Given the description of an element on the screen output the (x, y) to click on. 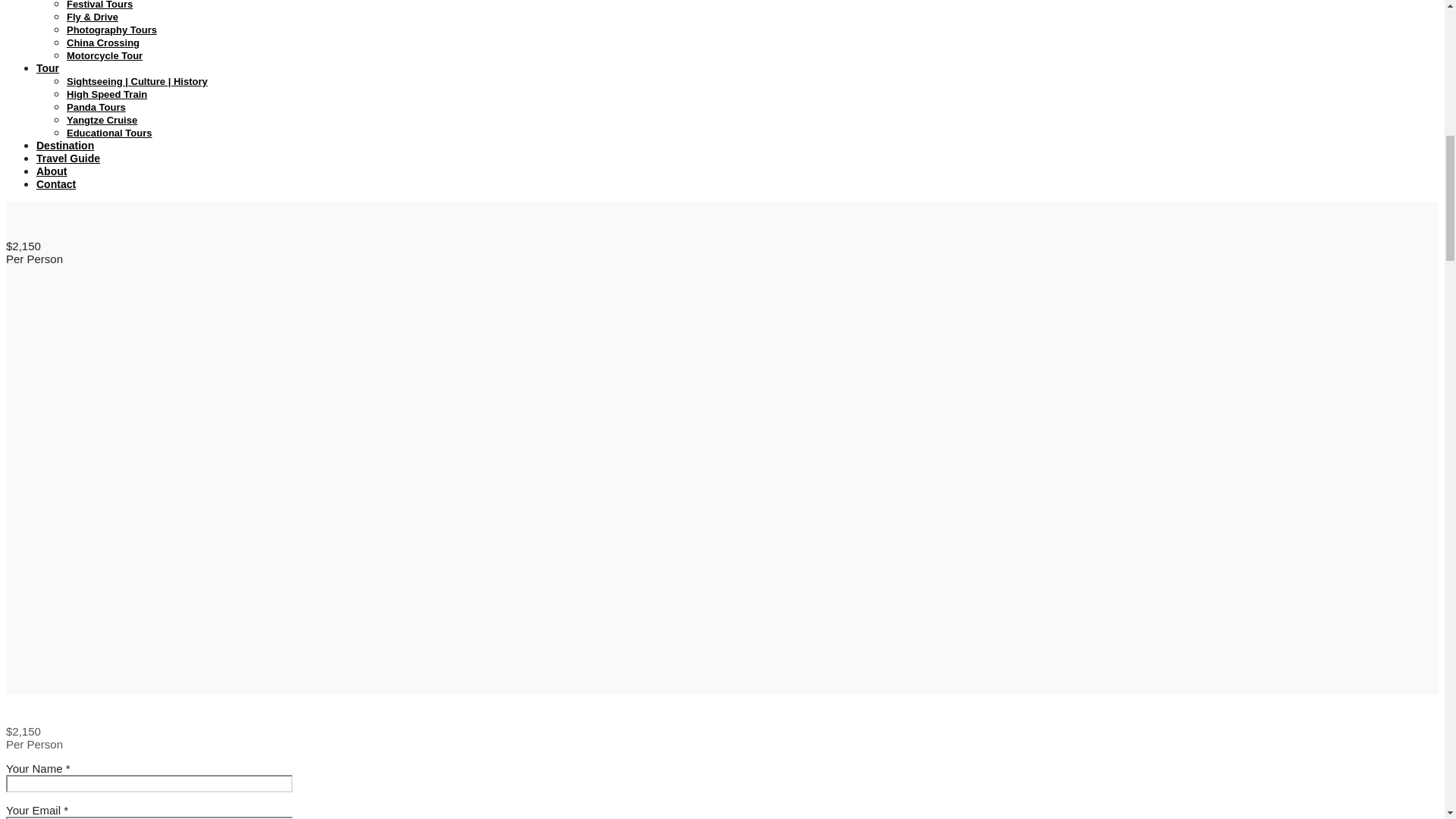
High Speed Train (106, 93)
Motorcycle Tour (104, 55)
Festival Tours (99, 14)
Destination (65, 145)
China Crossing (102, 42)
Photography Tours (111, 29)
Panda Tours (95, 106)
Travel Guide (68, 158)
Yangtze Cruise (101, 120)
Driving Overland China (121, 2)
